Given the description of an element on the screen output the (x, y) to click on. 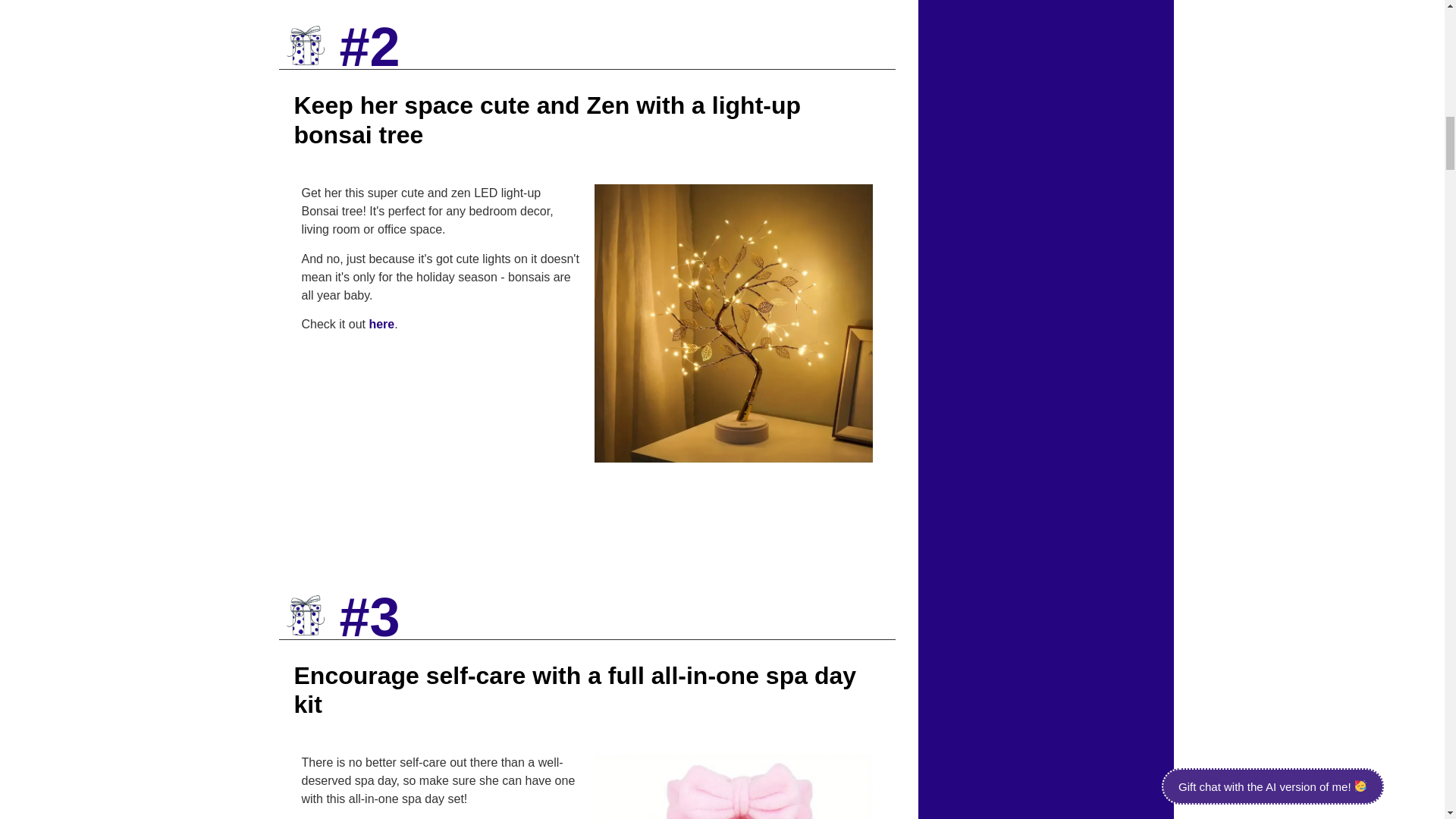
here (381, 323)
